Given the description of an element on the screen output the (x, y) to click on. 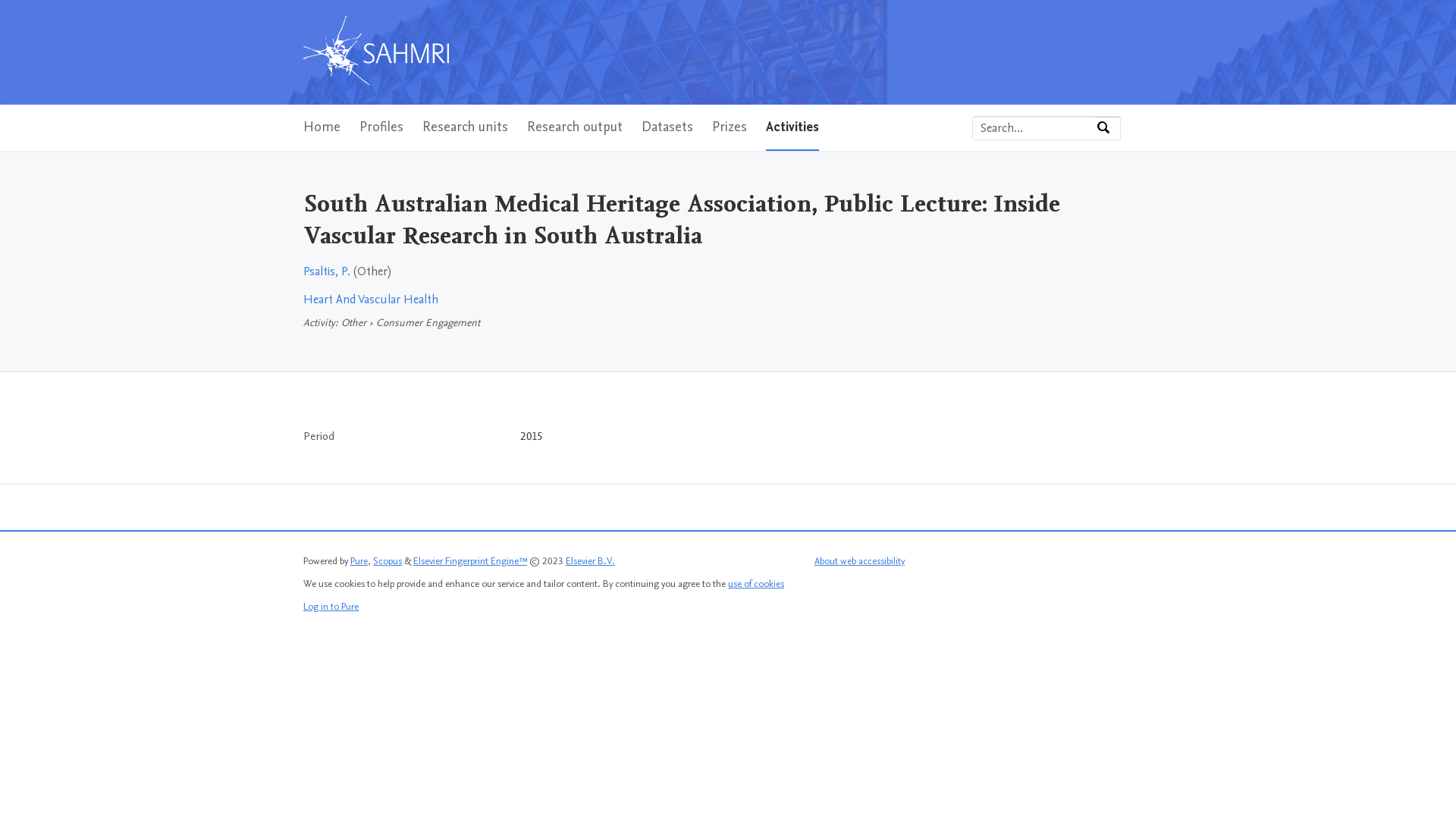
About web accessibility Element type: text (859, 560)
Research output Element type: text (574, 127)
Datasets Element type: text (667, 127)
use of cookies Element type: text (756, 583)
Activities Element type: text (792, 127)
SAHMRI Home Element type: text (375, 52)
Heart And Vascular Health Element type: text (370, 299)
Pure Element type: text (358, 560)
Log in to Pure Element type: text (330, 606)
Prizes Element type: text (729, 127)
Skip to main navigation Element type: text (0, 0)
Psaltis, P. Element type: text (326, 271)
Profiles Element type: text (381, 127)
Elsevier B.V. Element type: text (590, 560)
Home Element type: text (321, 127)
Scopus Element type: text (387, 560)
Research units Element type: text (465, 127)
